Given the description of an element on the screen output the (x, y) to click on. 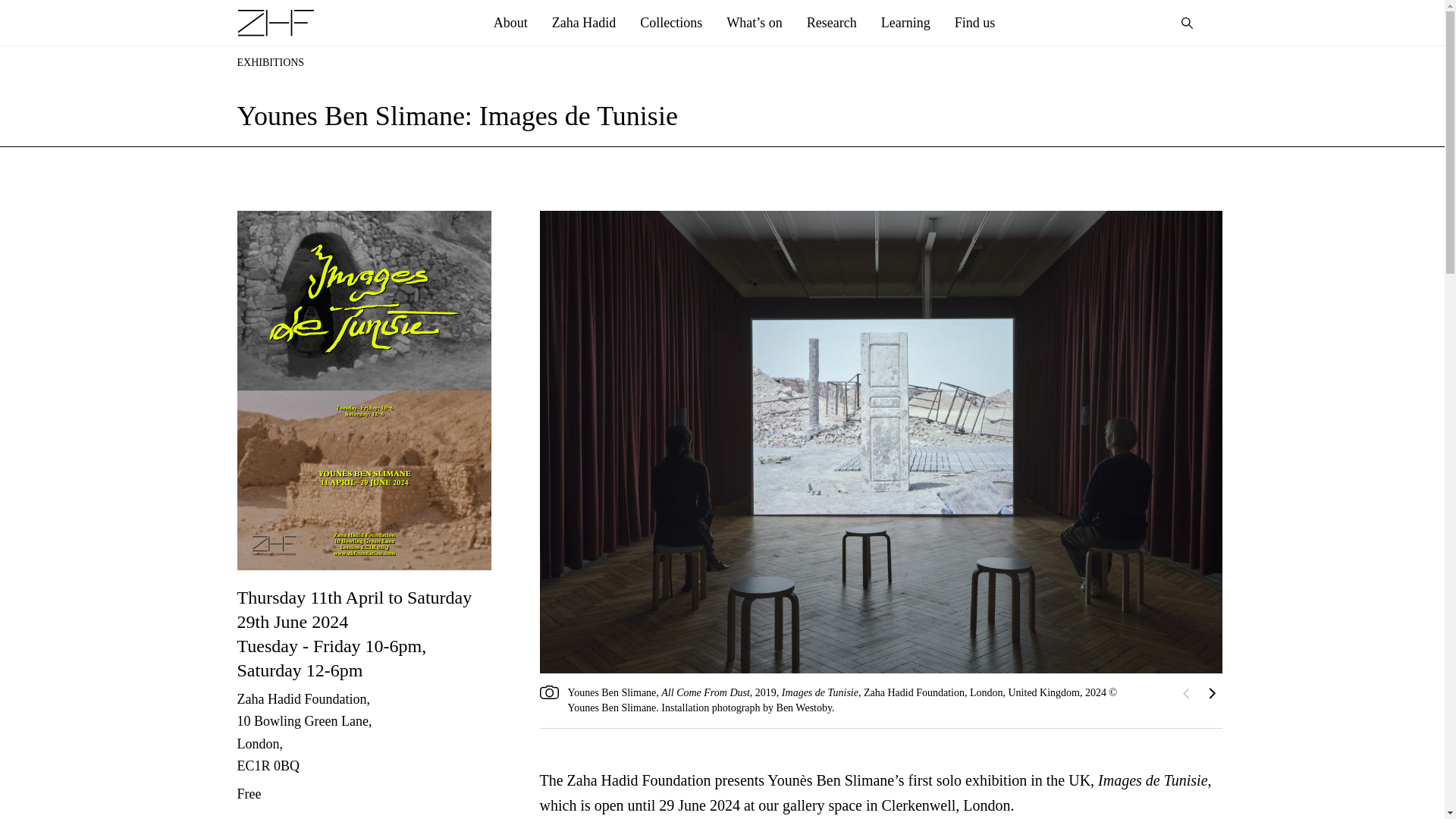
EXHIBITIONS (269, 61)
Search (1187, 22)
ZHF - Zaha Hadid Foundation (274, 22)
About (510, 22)
Research (831, 22)
Zaha Hadid (583, 22)
Learning (905, 22)
Collections (670, 22)
Find us (974, 22)
